Given the description of an element on the screen output the (x, y) to click on. 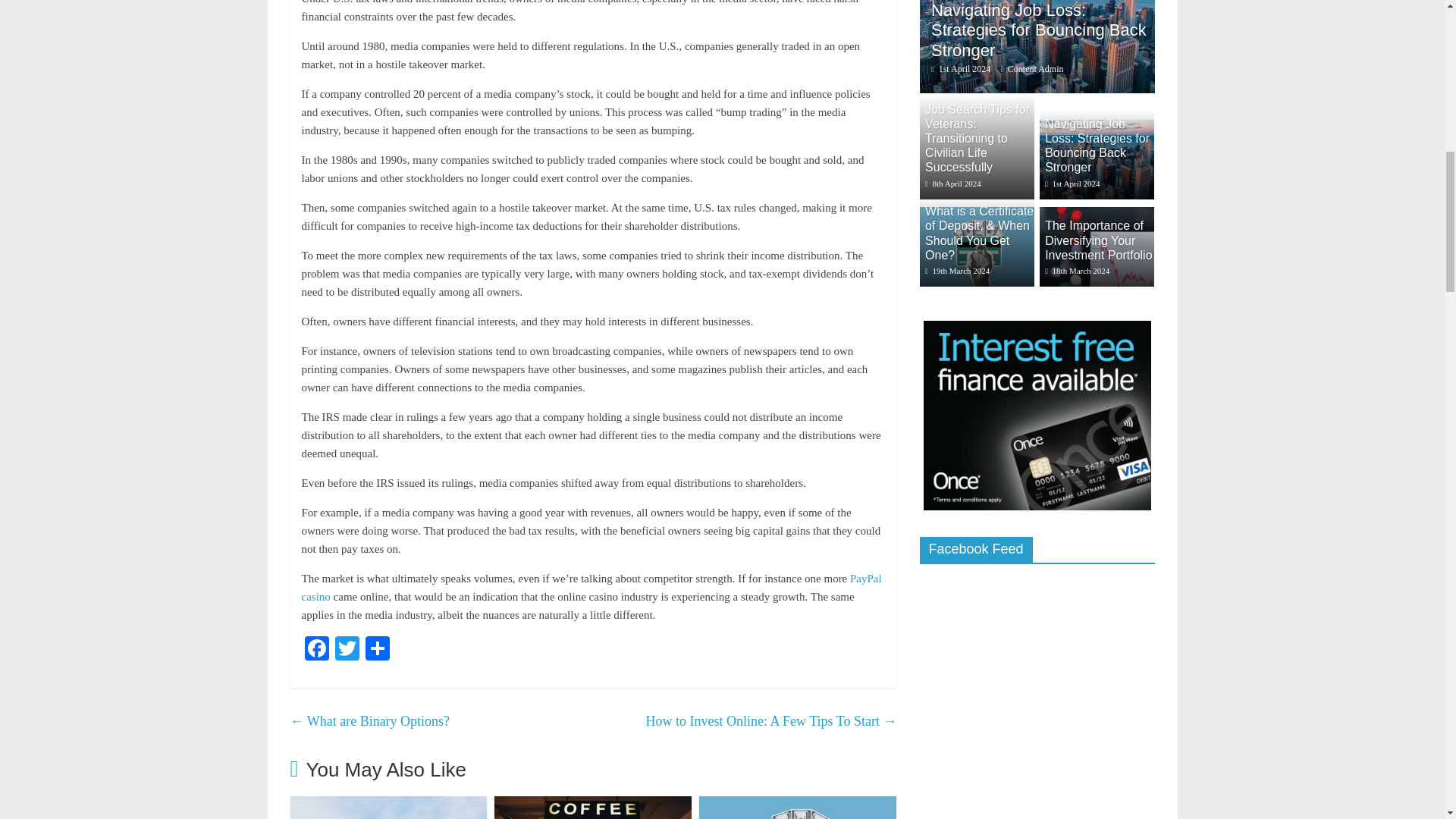
Am I Ready to Start a Small Business? (593, 805)
Facebook (316, 650)
Twitter (346, 650)
Twitter (346, 650)
Share (377, 650)
Facebook (316, 650)
Looking for a buy to holiday let mortgage? (387, 805)
PayPal casino (591, 587)
